Given the description of an element on the screen output the (x, y) to click on. 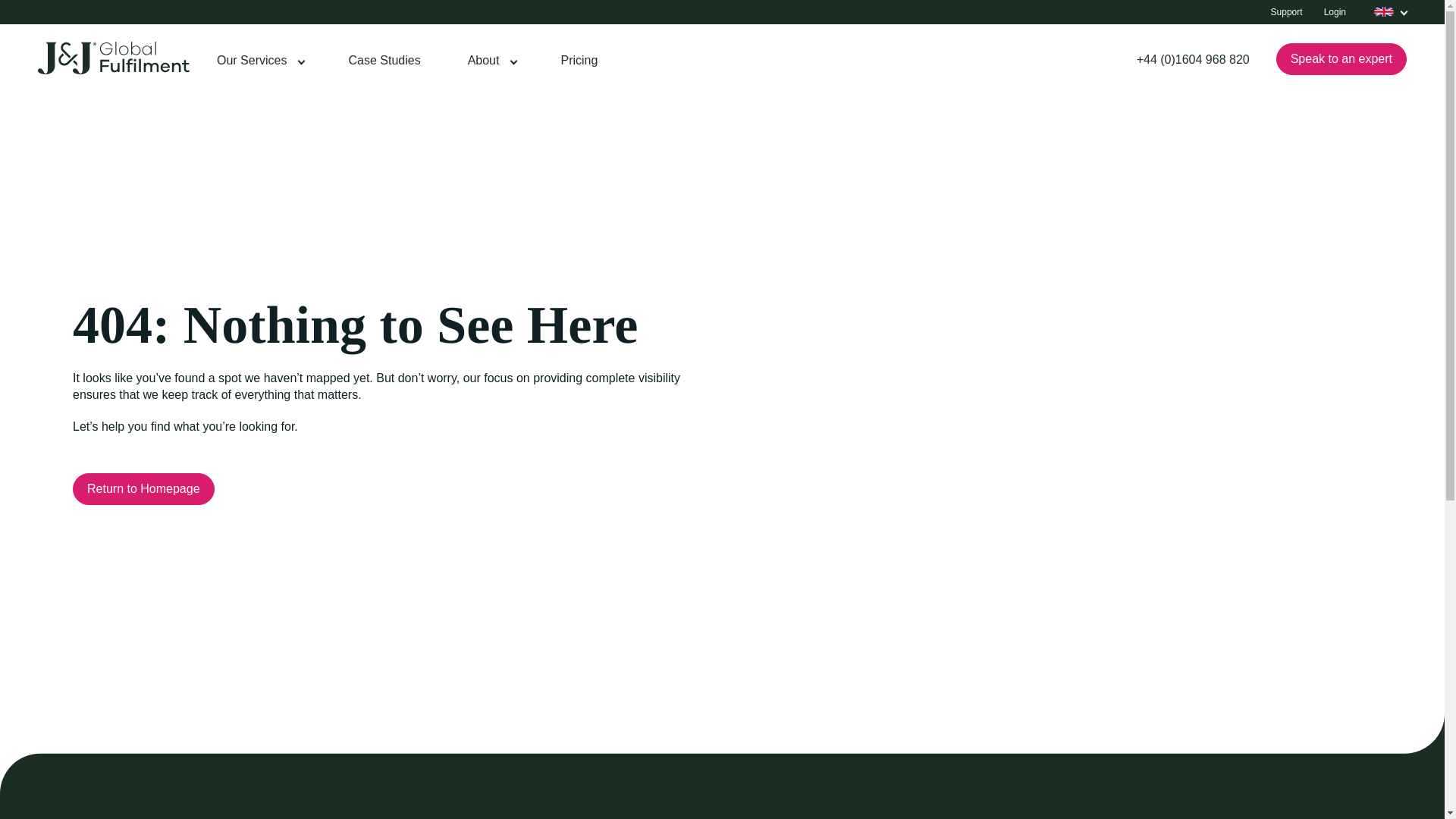
Login (1334, 12)
Our Services (259, 63)
Support (1287, 12)
Speak to an expert (1341, 59)
Pricing (579, 63)
About (490, 63)
Case Studies (384, 63)
